Given the description of an element on the screen output the (x, y) to click on. 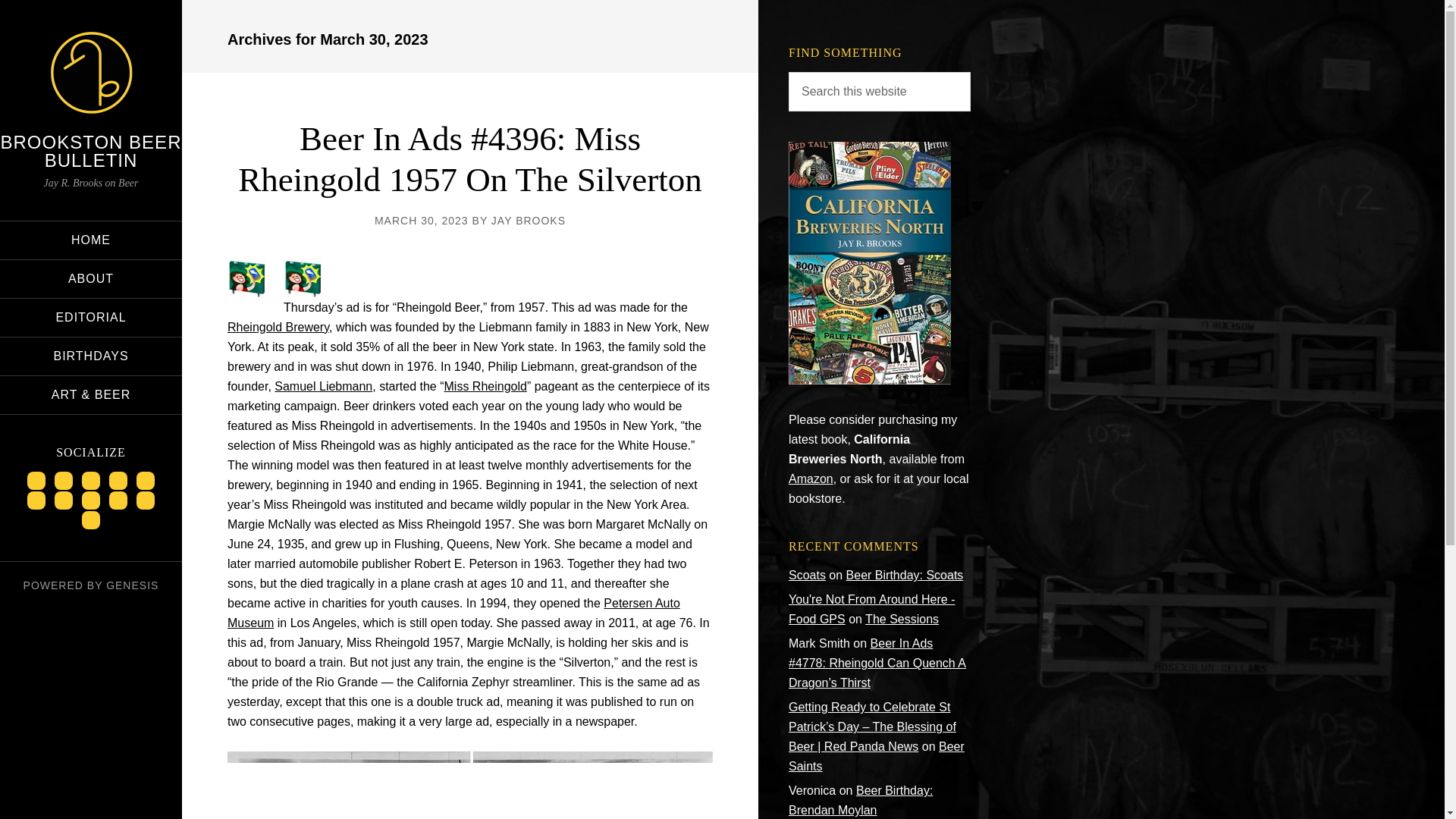
Rheingold Brewery (278, 327)
EDITORIAL (91, 317)
BROOKSTON BEER BULLETIN (91, 150)
Scoats (807, 574)
You're Not From Around Here - Food GPS (872, 608)
Northern California Breweries (869, 379)
BIRTHDAYS (91, 356)
Beer Birthday: Scoats (904, 574)
